Given the description of an element on the screen output the (x, y) to click on. 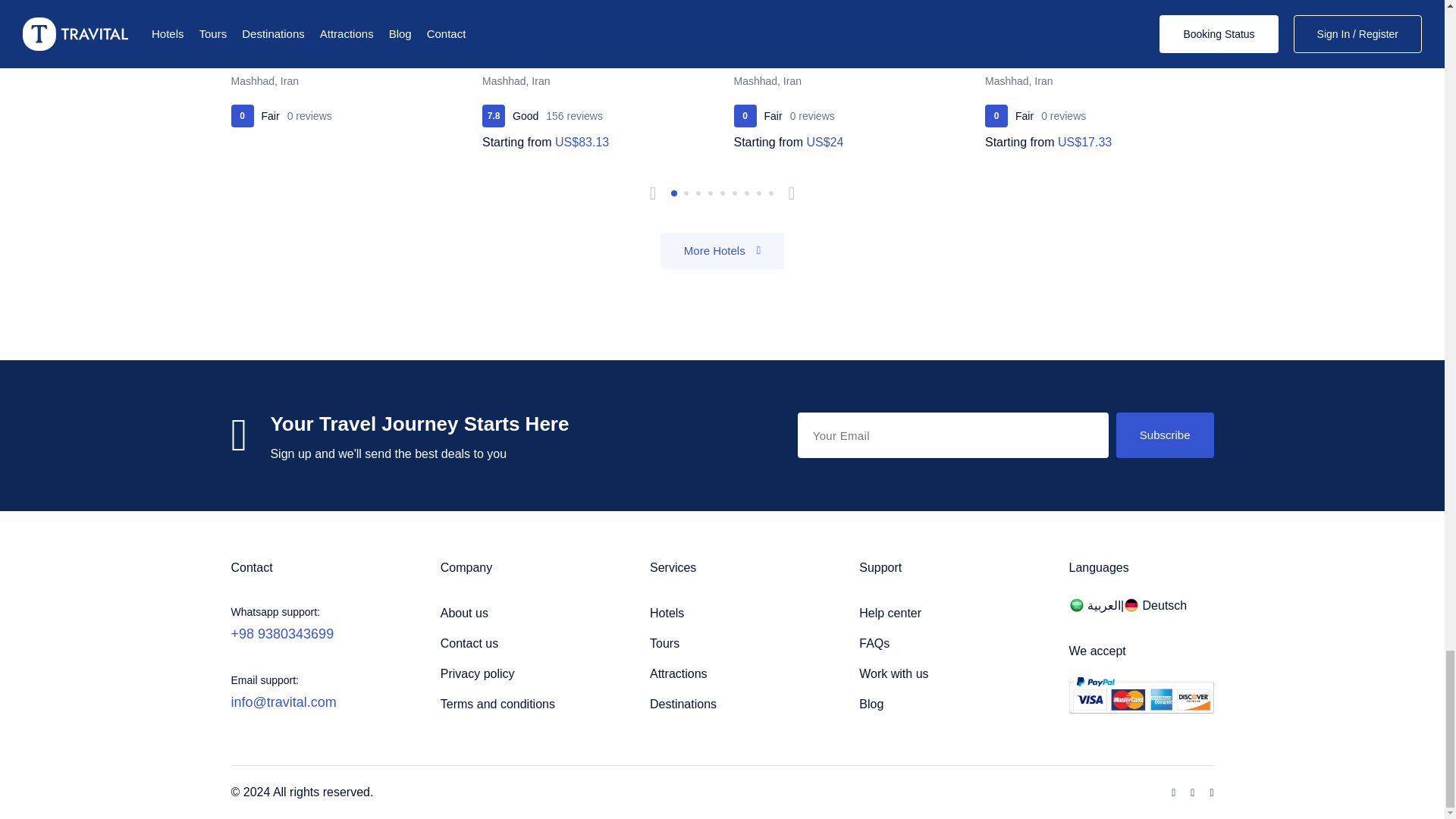
HOTELRESERVIERUNG IRAN (1155, 604)
